Given the description of an element on the screen output the (x, y) to click on. 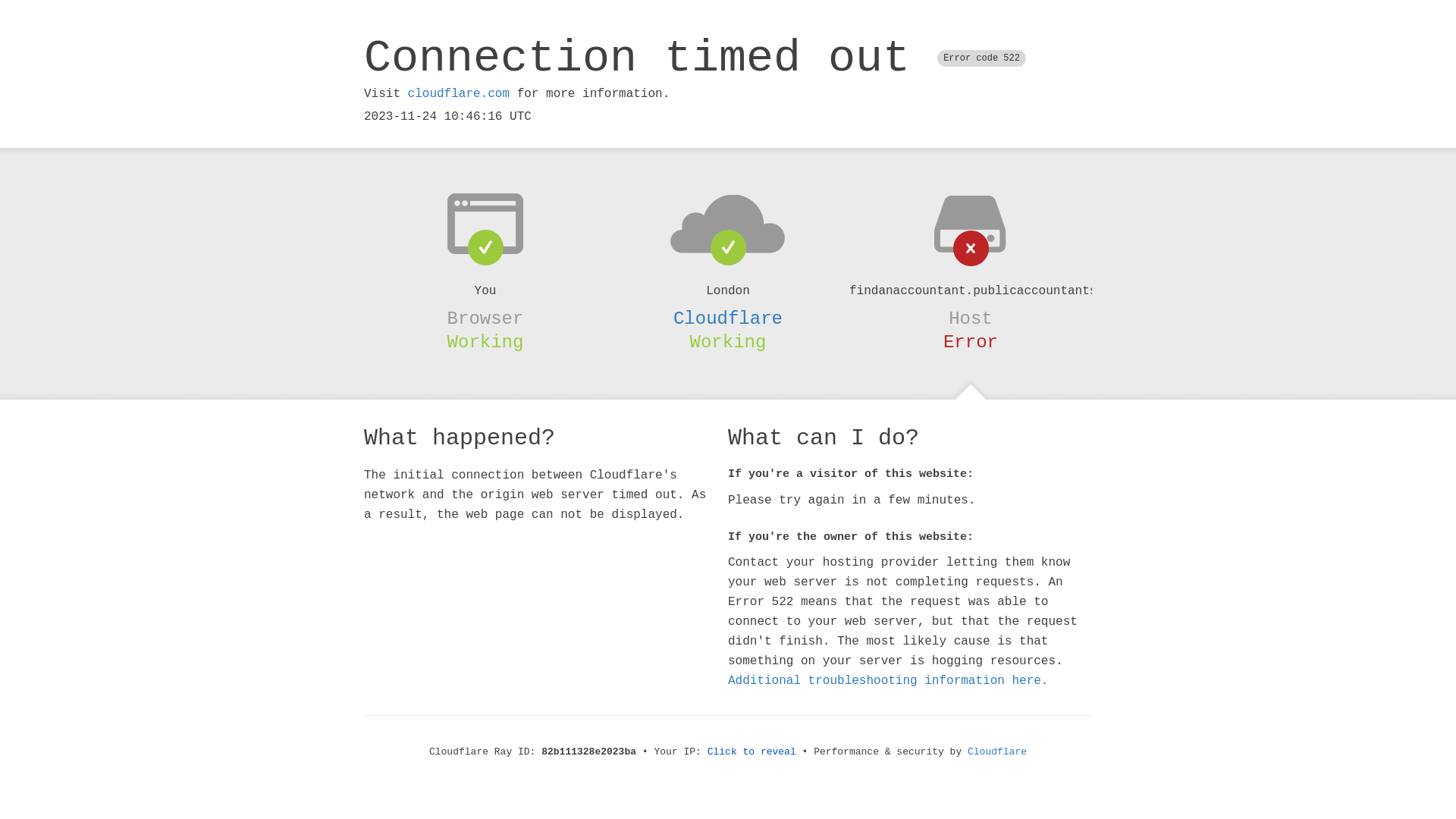
Click to reveal Element type: text (751, 751)
Cloudflare Element type: text (996, 751)
Additional troubleshooting information here. Element type: text (888, 680)
Cloudflare Element type: text (727, 318)
cloudflare.com Element type: text (458, 93)
